Given the description of an element on the screen output the (x, y) to click on. 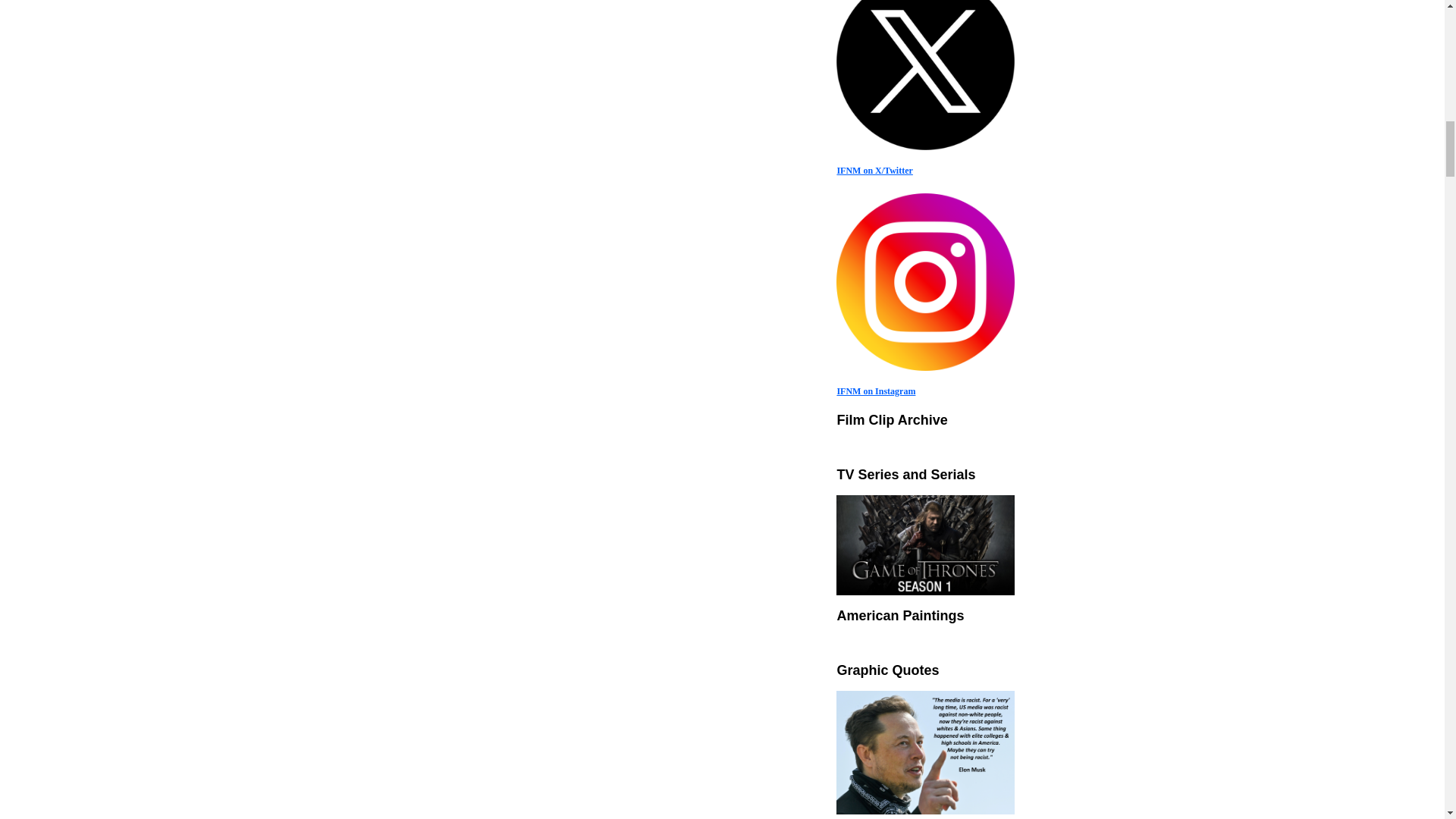
IFNM on Instagram (875, 390)
